Given the description of an element on the screen output the (x, y) to click on. 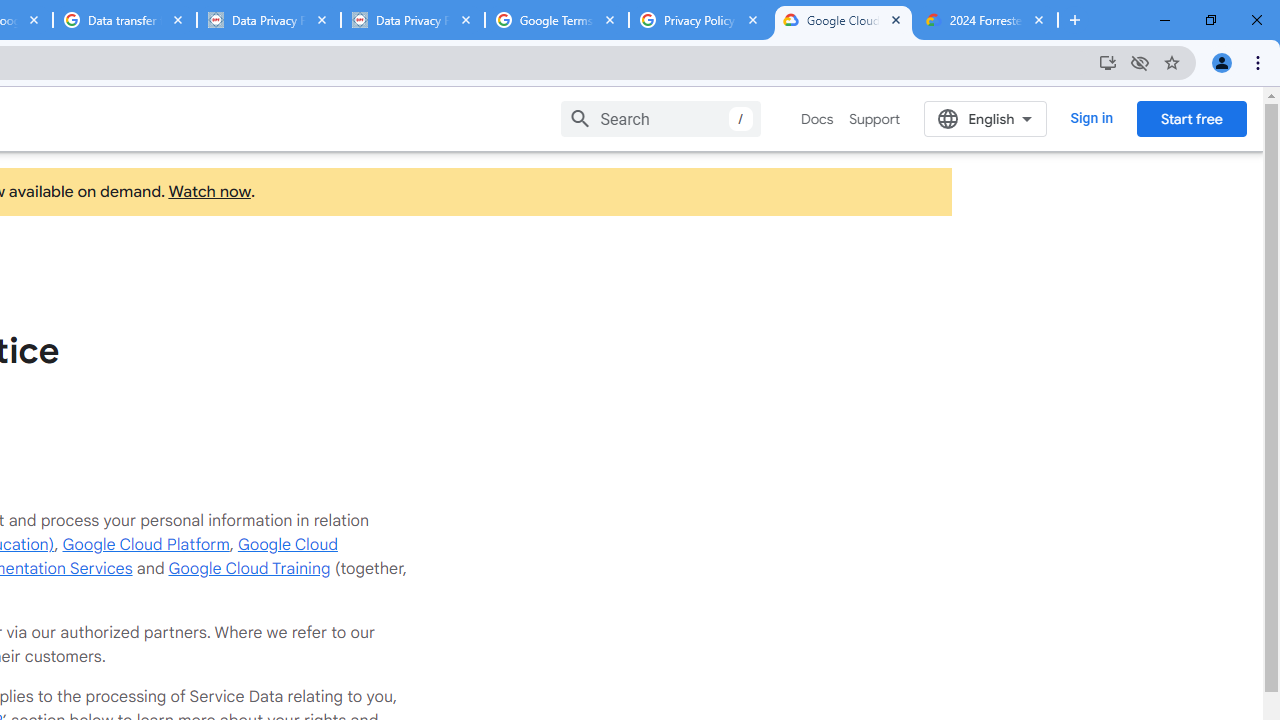
Search (660, 118)
Third-party cookies blocked (1139, 62)
Sign in (1092, 118)
Start free (1191, 118)
